Given the description of an element on the screen output the (x, y) to click on. 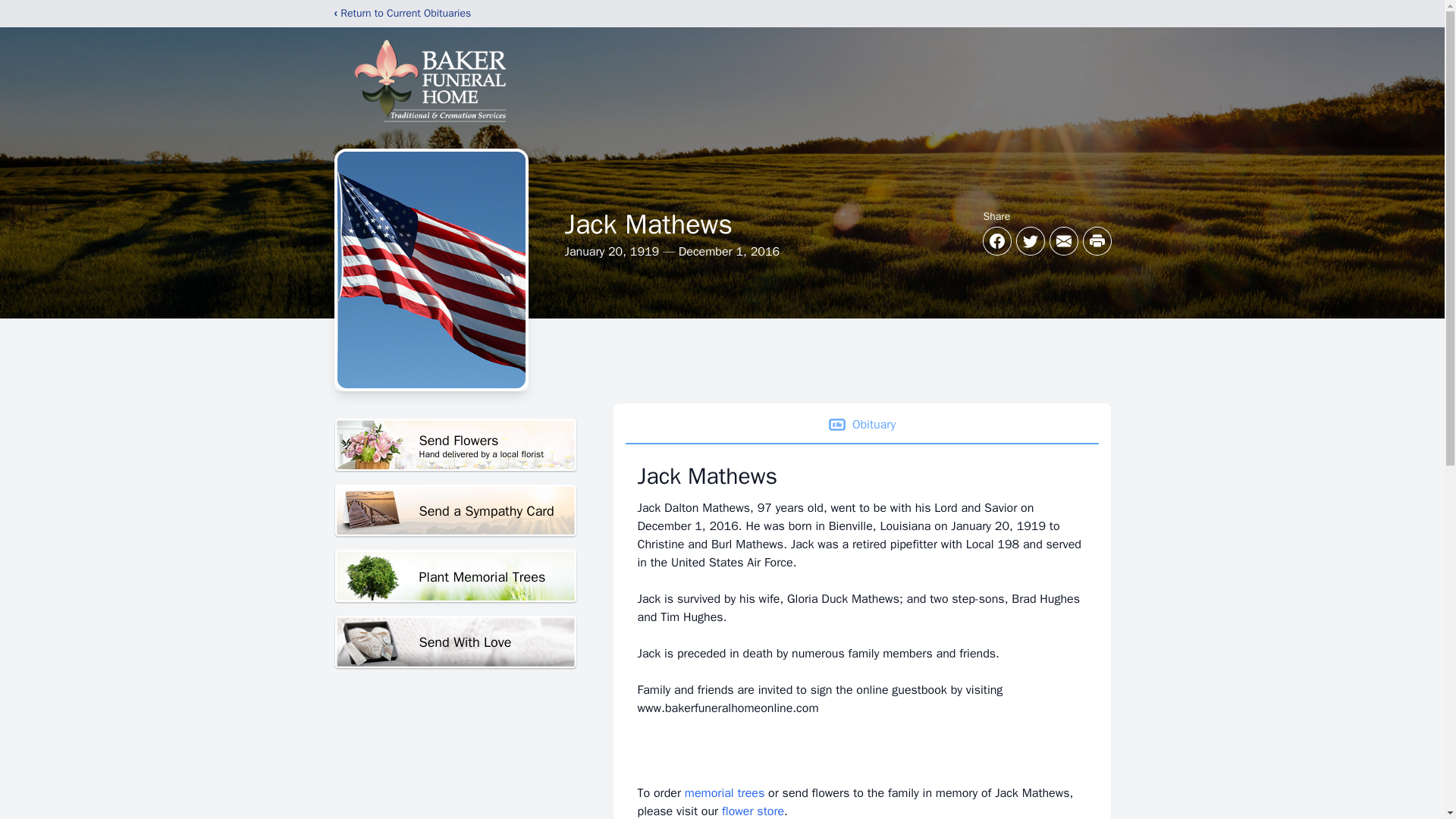
Send With Love (454, 642)
Obituary (860, 425)
Send a Sympathy Card (454, 445)
flower store (454, 511)
memorial trees (753, 811)
Plant Memorial Trees (724, 792)
